Given the description of an element on the screen output the (x, y) to click on. 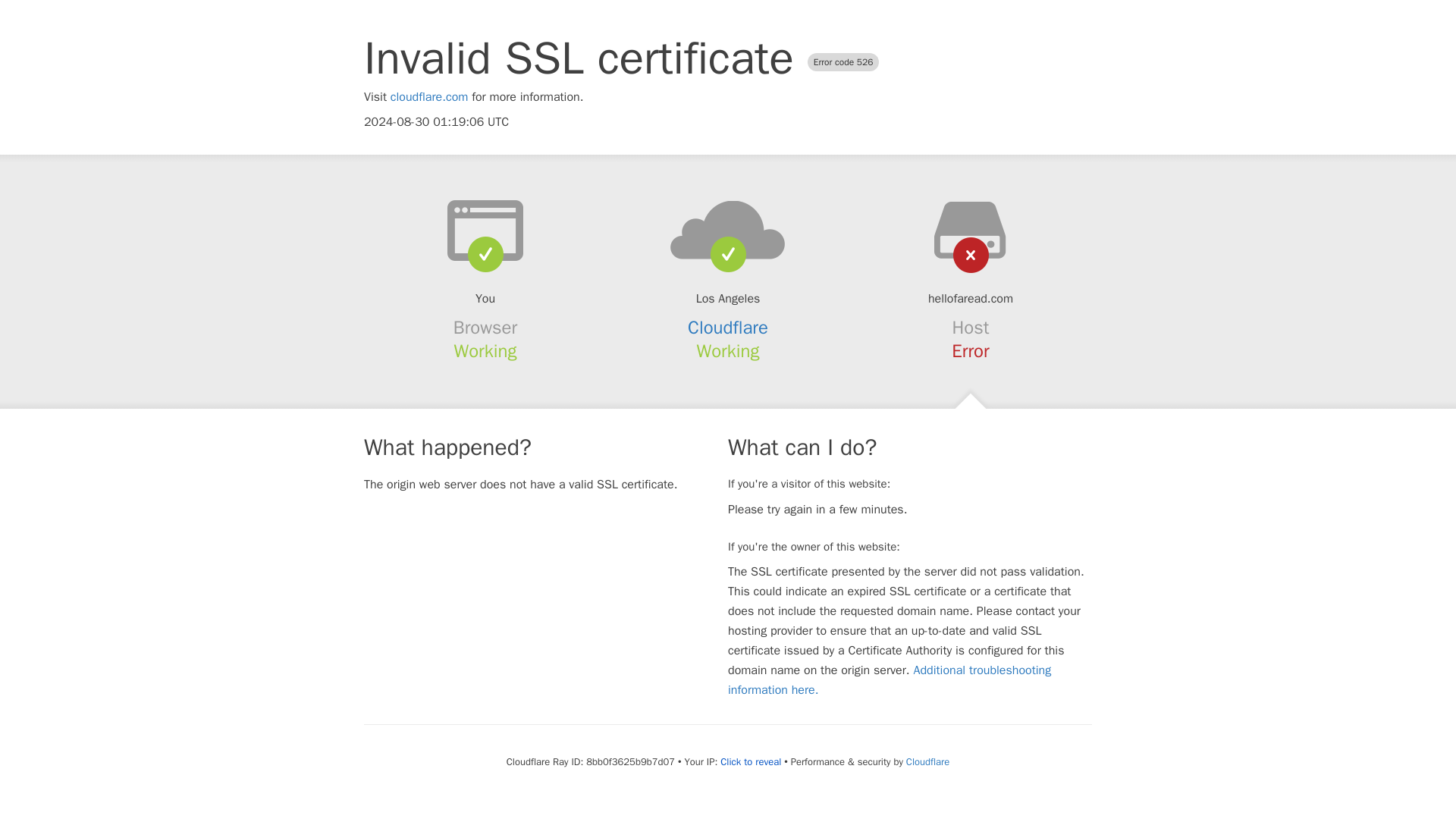
cloudflare.com (429, 96)
Additional troubleshooting information here. (889, 679)
Cloudflare (927, 761)
Cloudflare (727, 327)
Click to reveal (750, 762)
